Given the description of an element on the screen output the (x, y) to click on. 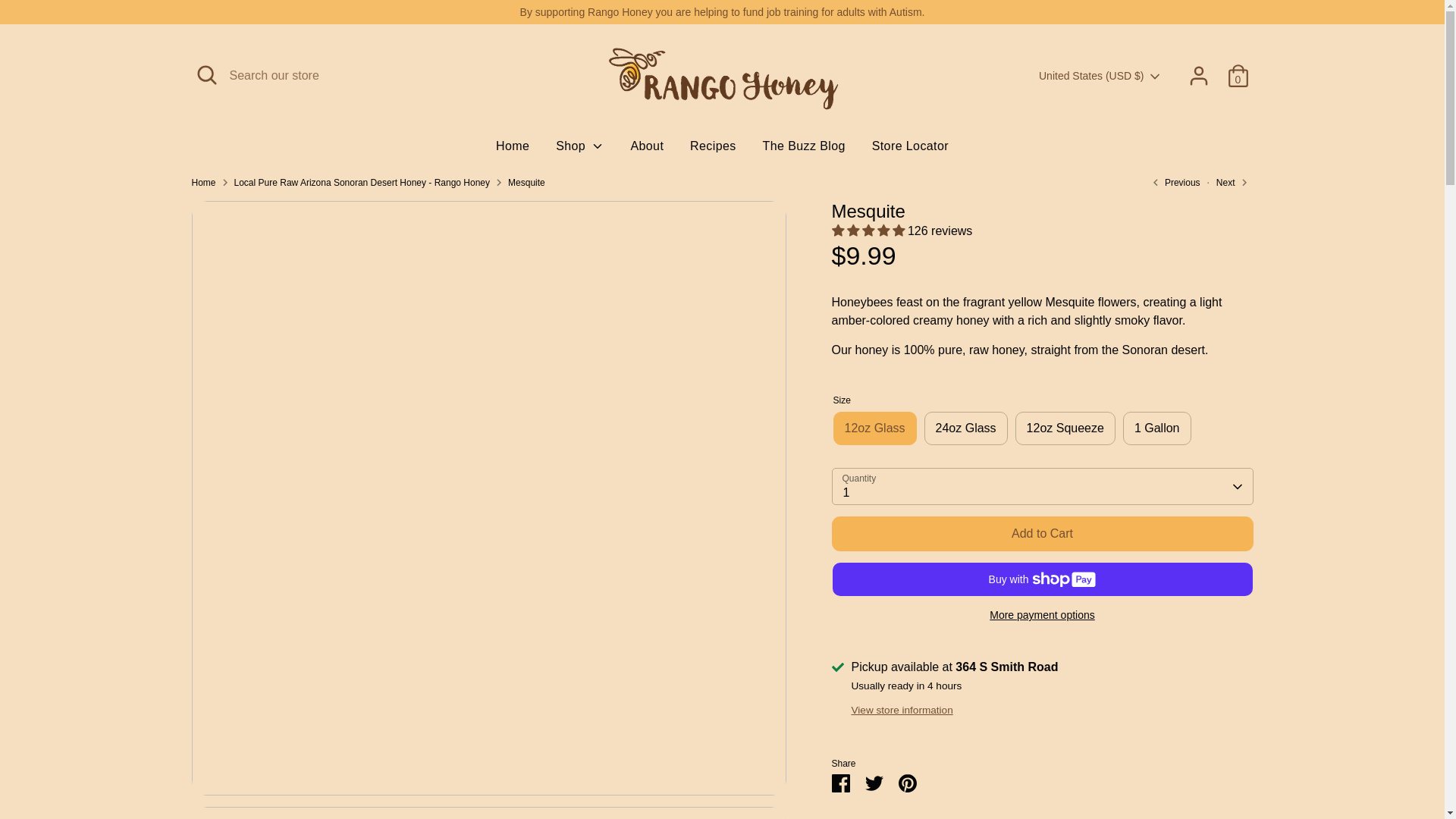
Clover Alfalfa (1173, 182)
0 (1237, 75)
Desert Bloom (1226, 182)
